Given the description of an element on the screen output the (x, y) to click on. 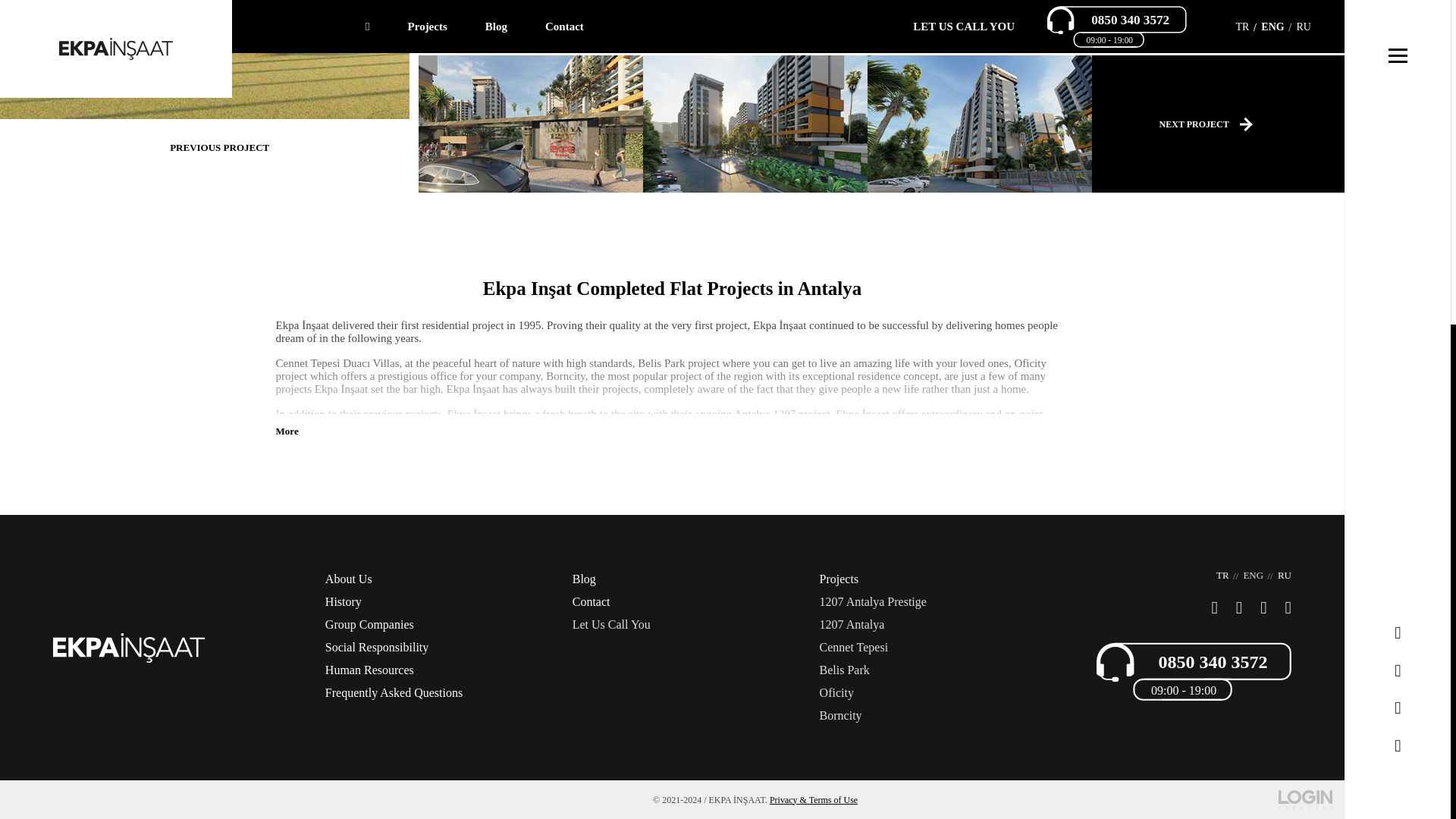
More (287, 430)
PREVIOUS PROJECT (219, 147)
